Given the description of an element on the screen output the (x, y) to click on. 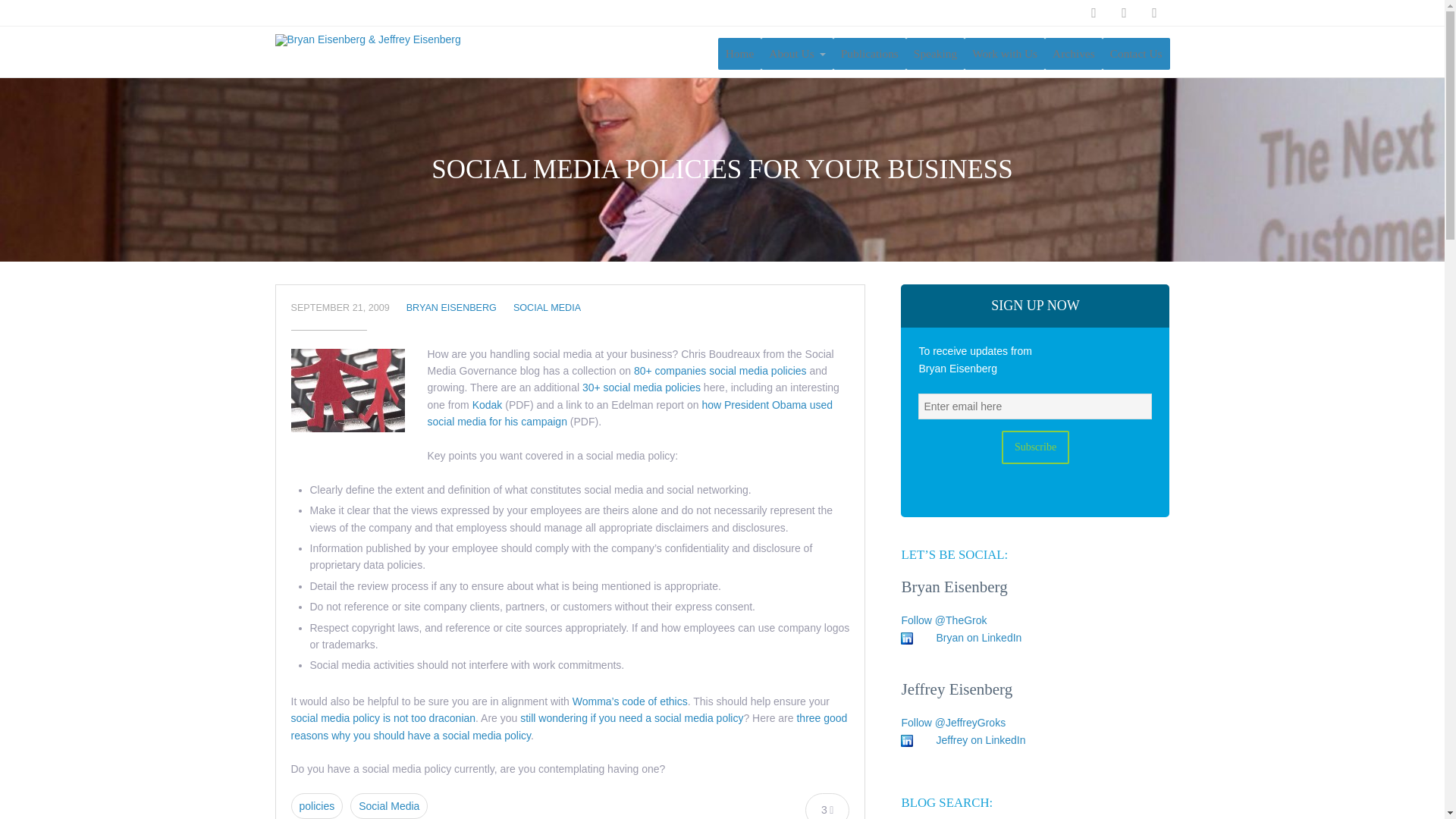
Publications (868, 53)
linkedinicon (906, 740)
policies (317, 806)
BRYAN EISENBERG (451, 307)
Home (739, 53)
still wondering if you need a social media policy (630, 717)
Kodak (486, 404)
linkedin bryaneisenberg (979, 637)
3 (826, 809)
LinkedIn (1123, 12)
